Given the description of an element on the screen output the (x, y) to click on. 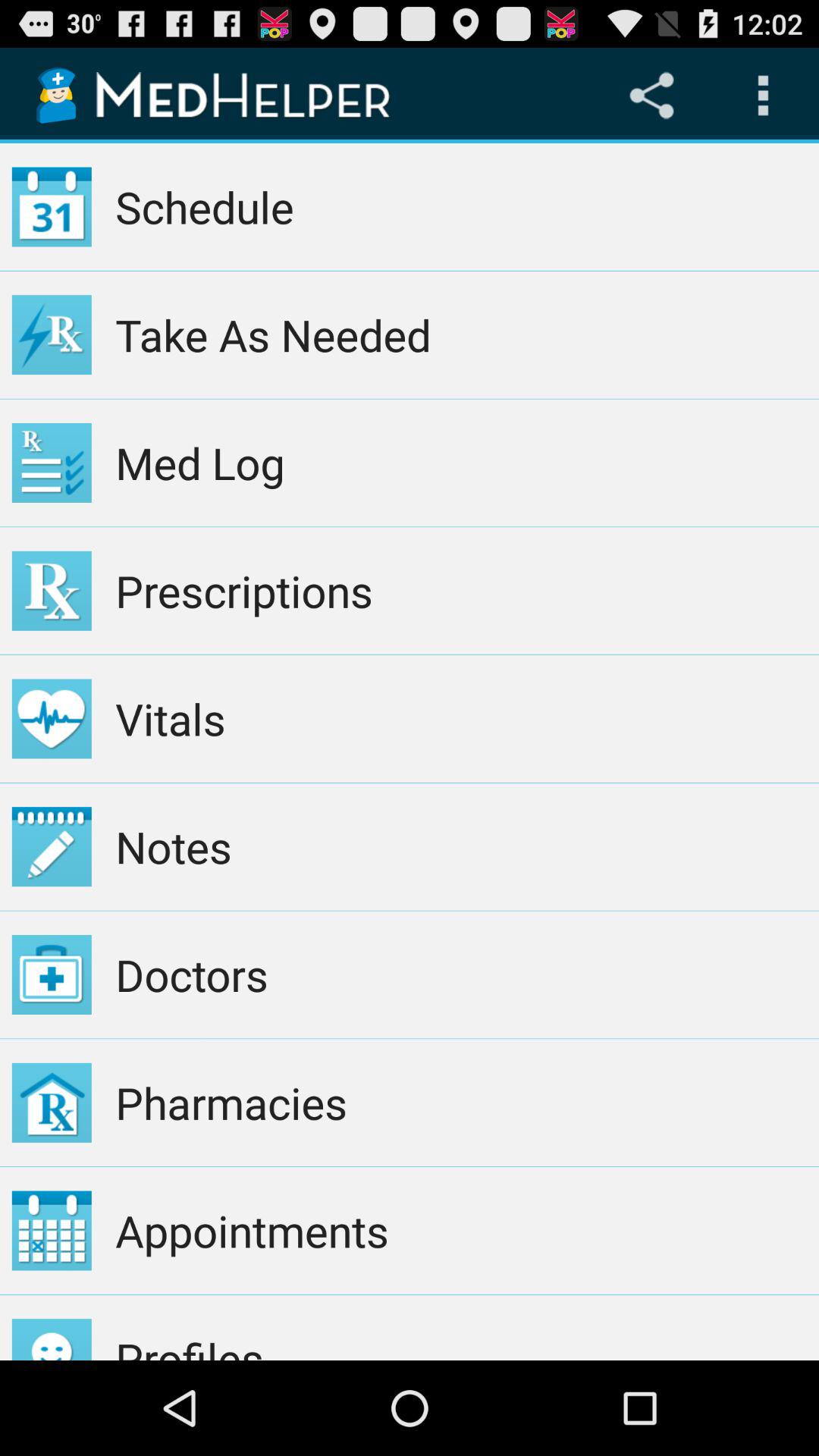
turn on take as needed (461, 334)
